Given the description of an element on the screen output the (x, y) to click on. 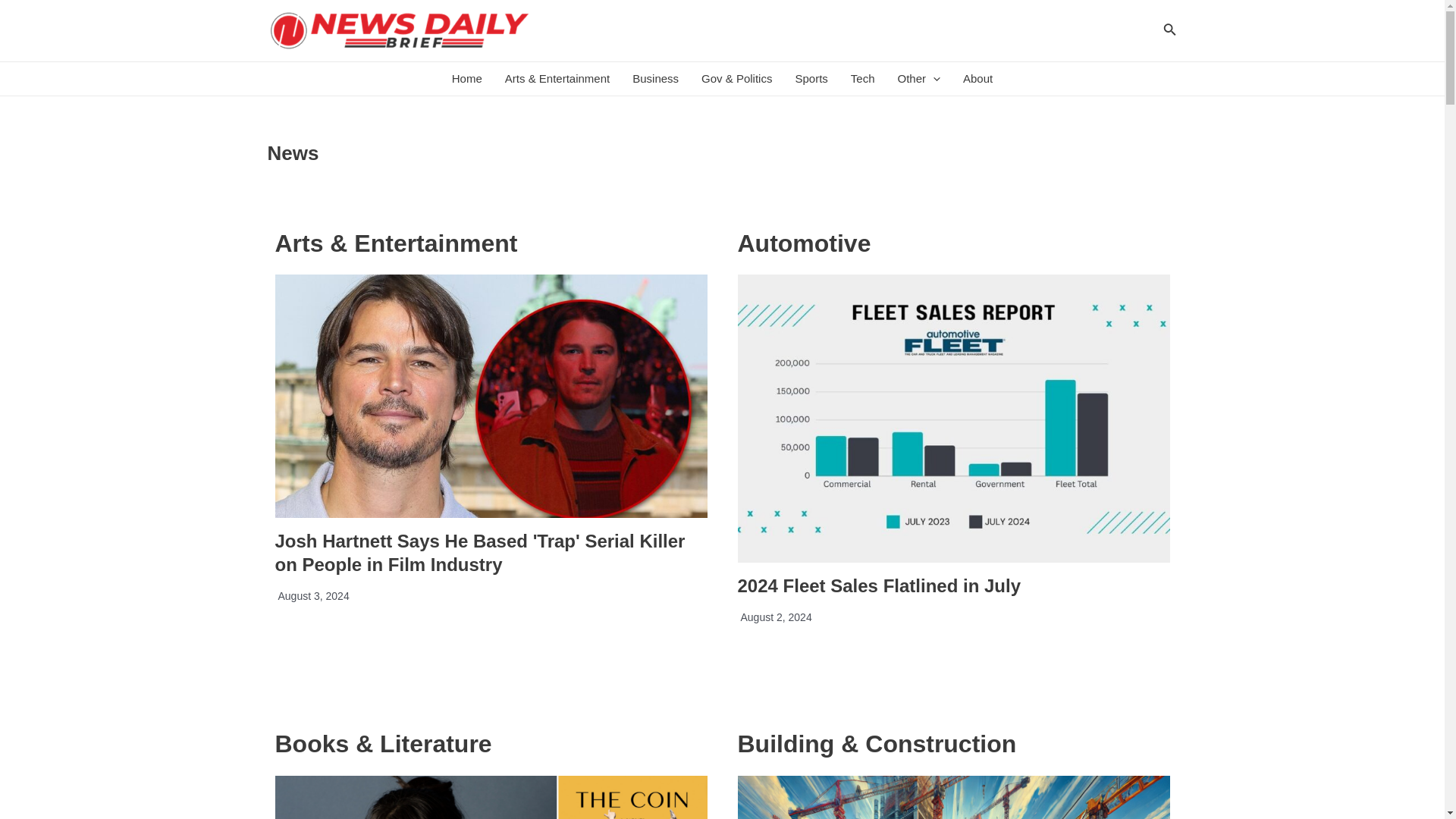
Sports (810, 78)
About (978, 78)
Other (918, 78)
Home (467, 78)
Business (655, 78)
Tech (863, 78)
